Given the description of an element on the screen output the (x, y) to click on. 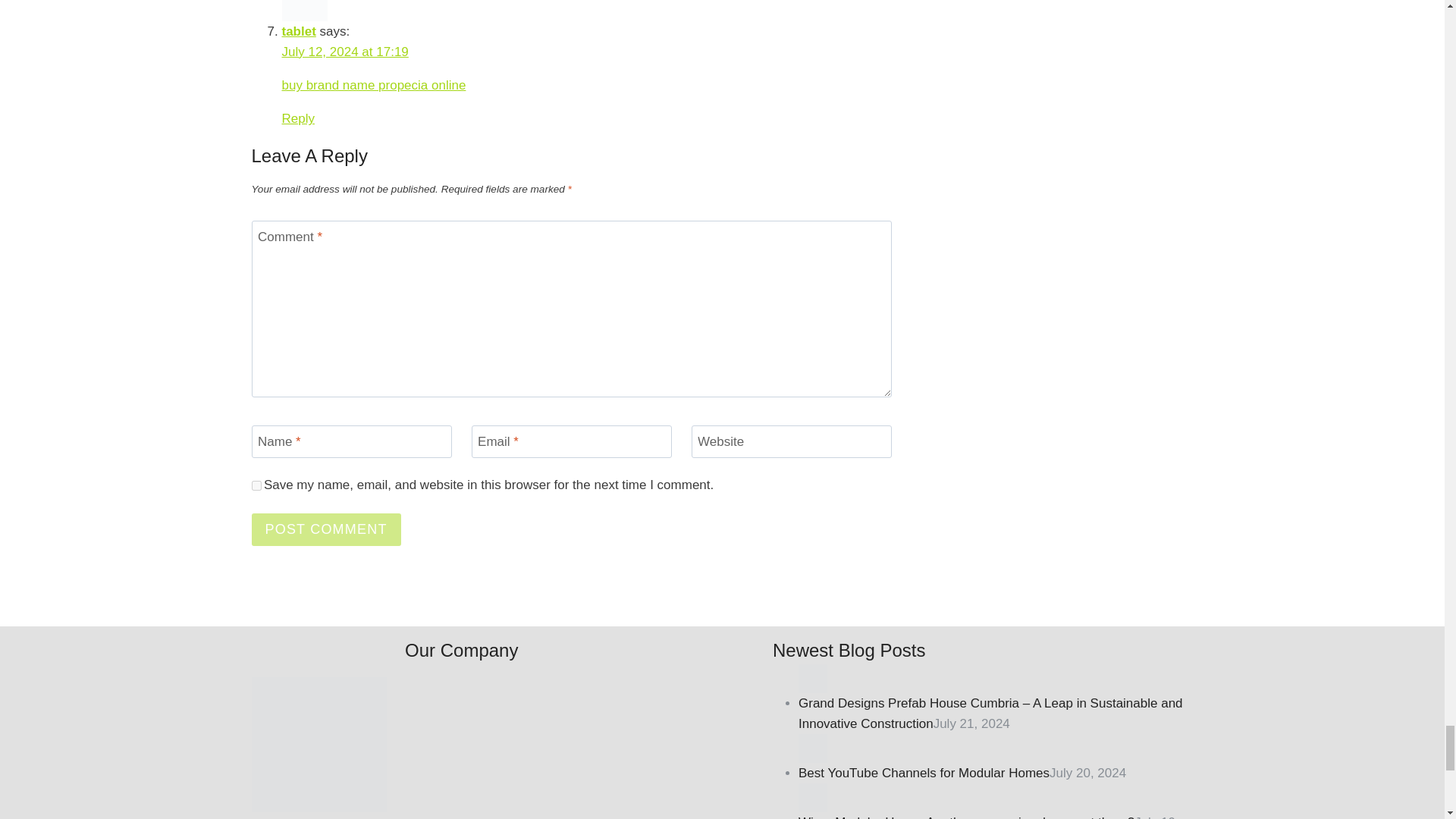
Post Comment (326, 529)
yes (256, 485)
